Given the description of an element on the screen output the (x, y) to click on. 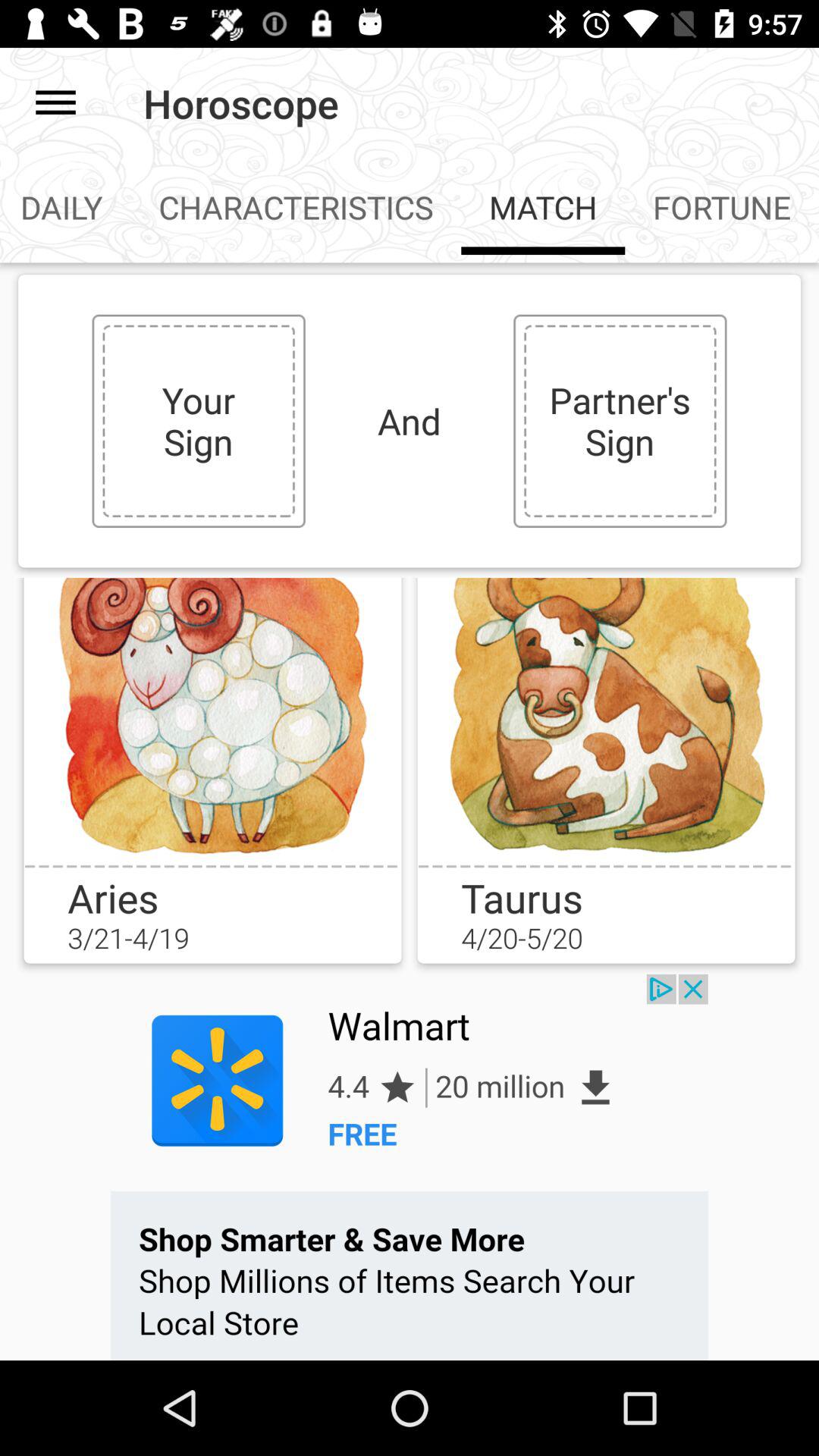
select birth sign (606, 720)
